Given the description of an element on the screen output the (x, y) to click on. 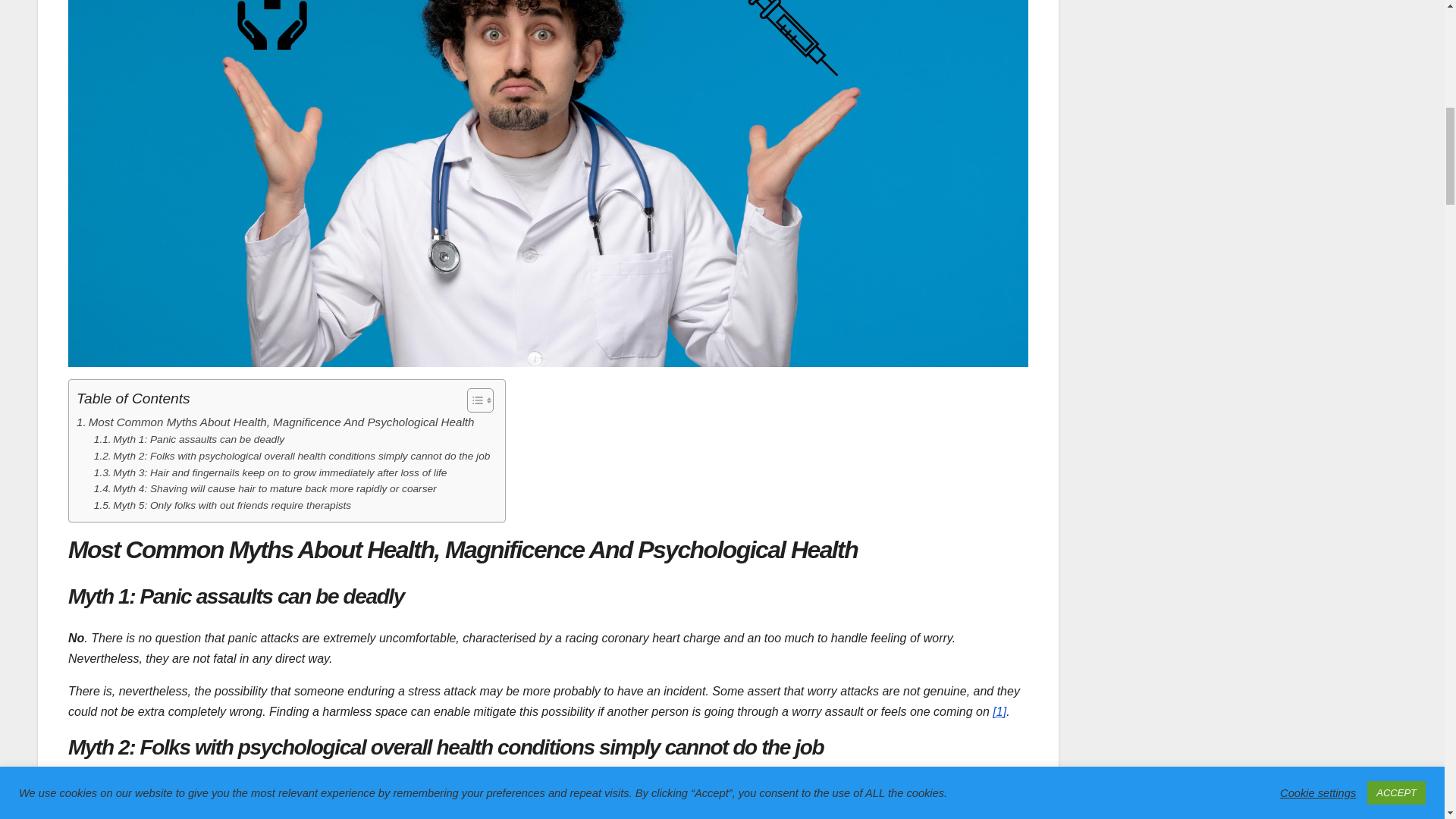
Myth 5: Only folks with out friends require therapists (222, 505)
Myth 1: Panic assaults can be deadly (188, 439)
Myth 1: Panic assaults can be deadly (188, 439)
